Given the description of an element on the screen output the (x, y) to click on. 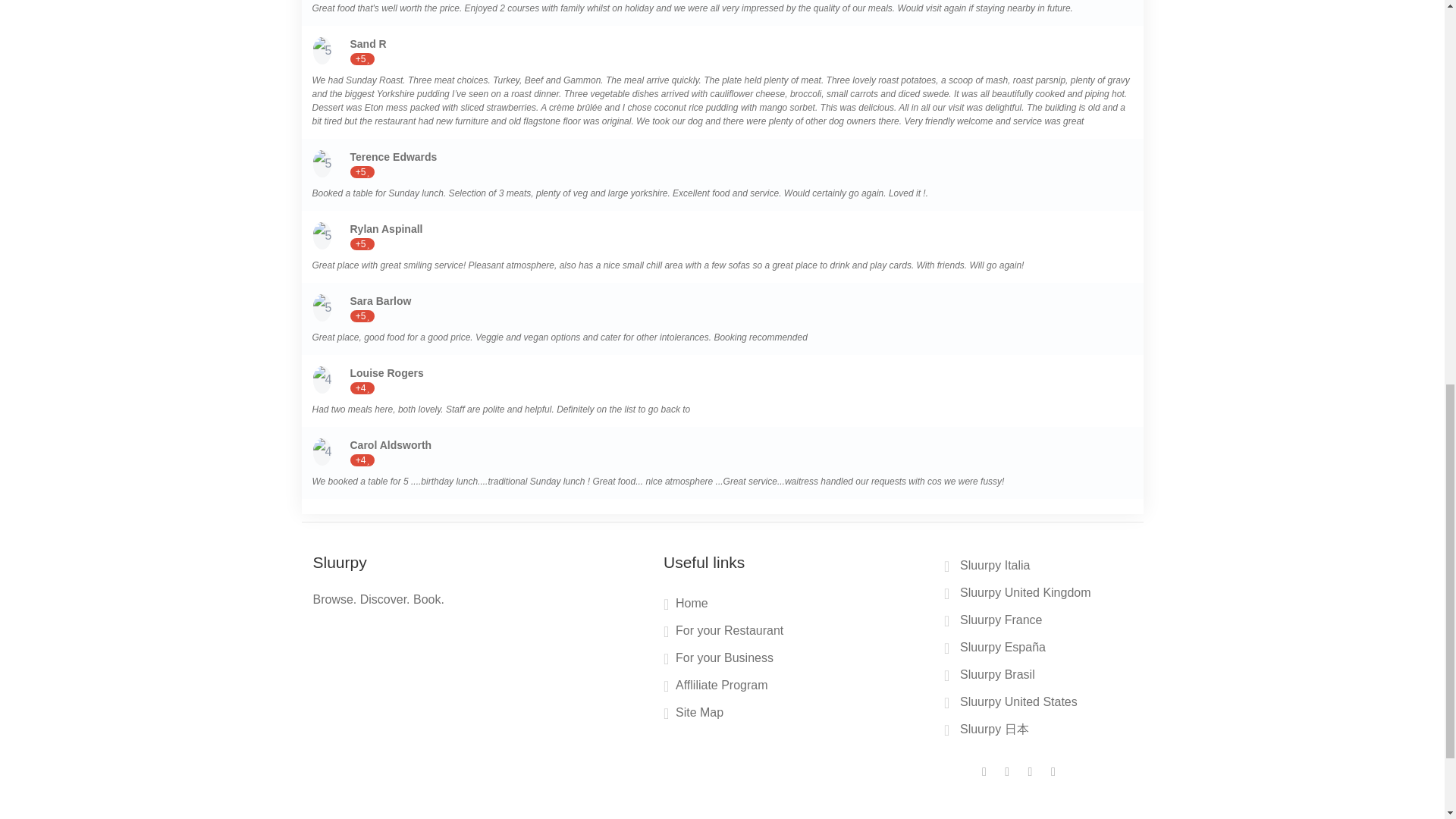
Home (685, 606)
Sluurpy United Kingdom (1018, 594)
For your Business (718, 661)
Sluurpy Brasil (991, 676)
Site Map (693, 715)
Sluurpy United States (1012, 703)
For your Restaurant (723, 633)
Sluurpy France (994, 621)
Sluurpy Italia (988, 567)
Affliliate Program (715, 688)
